Given the description of an element on the screen output the (x, y) to click on. 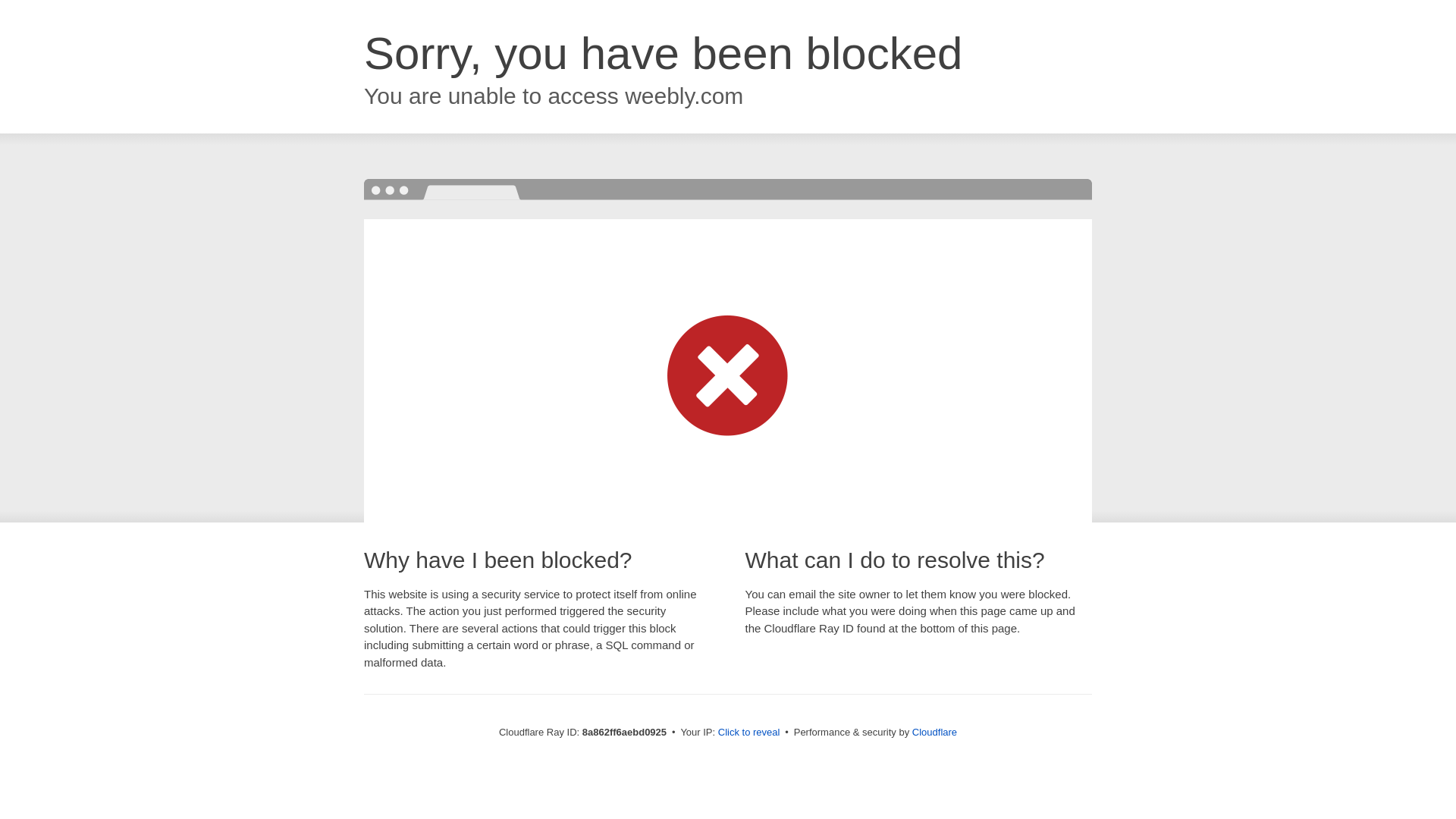
Click to reveal (748, 732)
Cloudflare (934, 731)
